Given the description of an element on the screen output the (x, y) to click on. 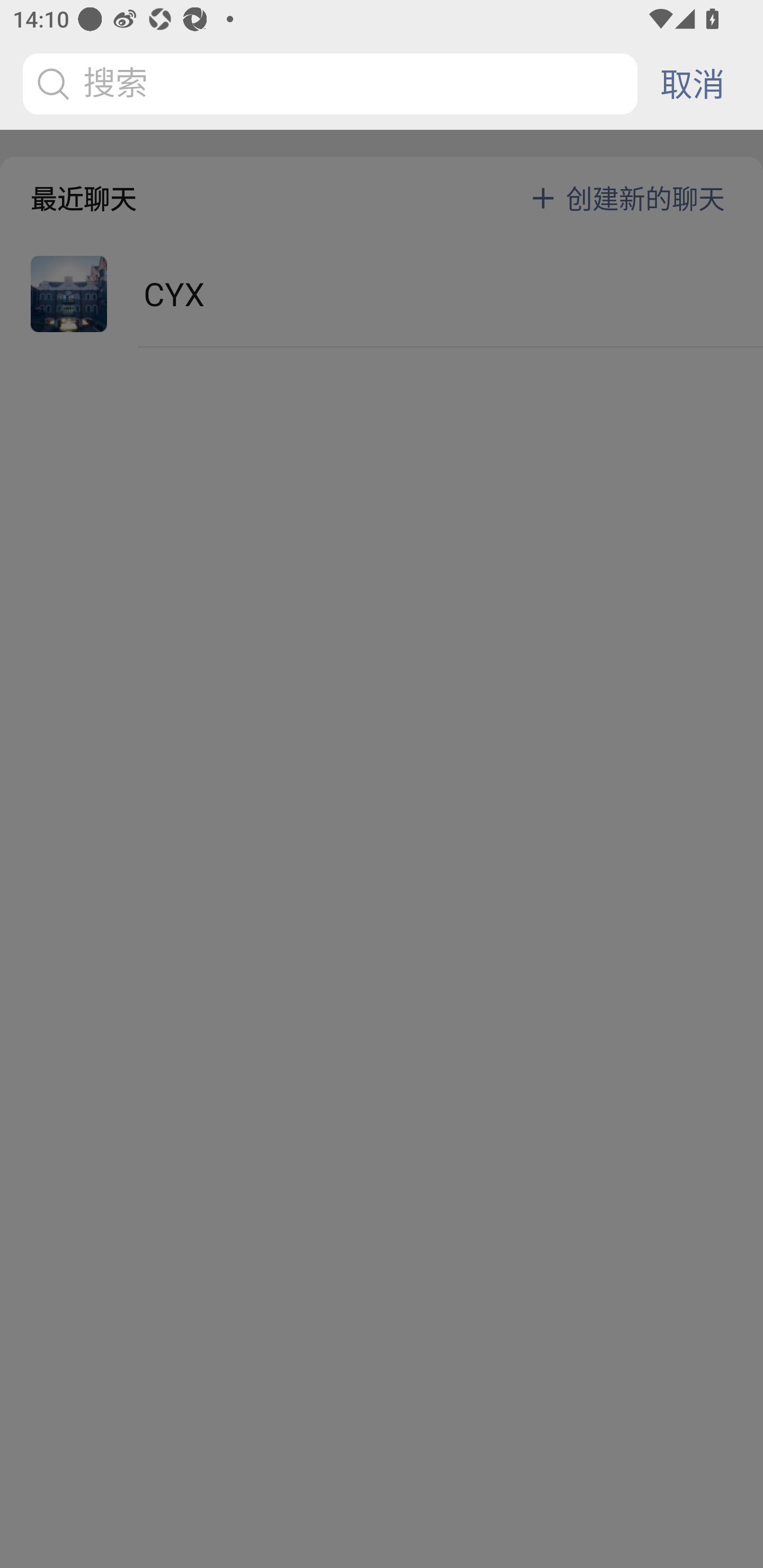
返回 (38, 83)
取消 (692, 83)
搜索 (333, 83)
